Given the description of an element on the screen output the (x, y) to click on. 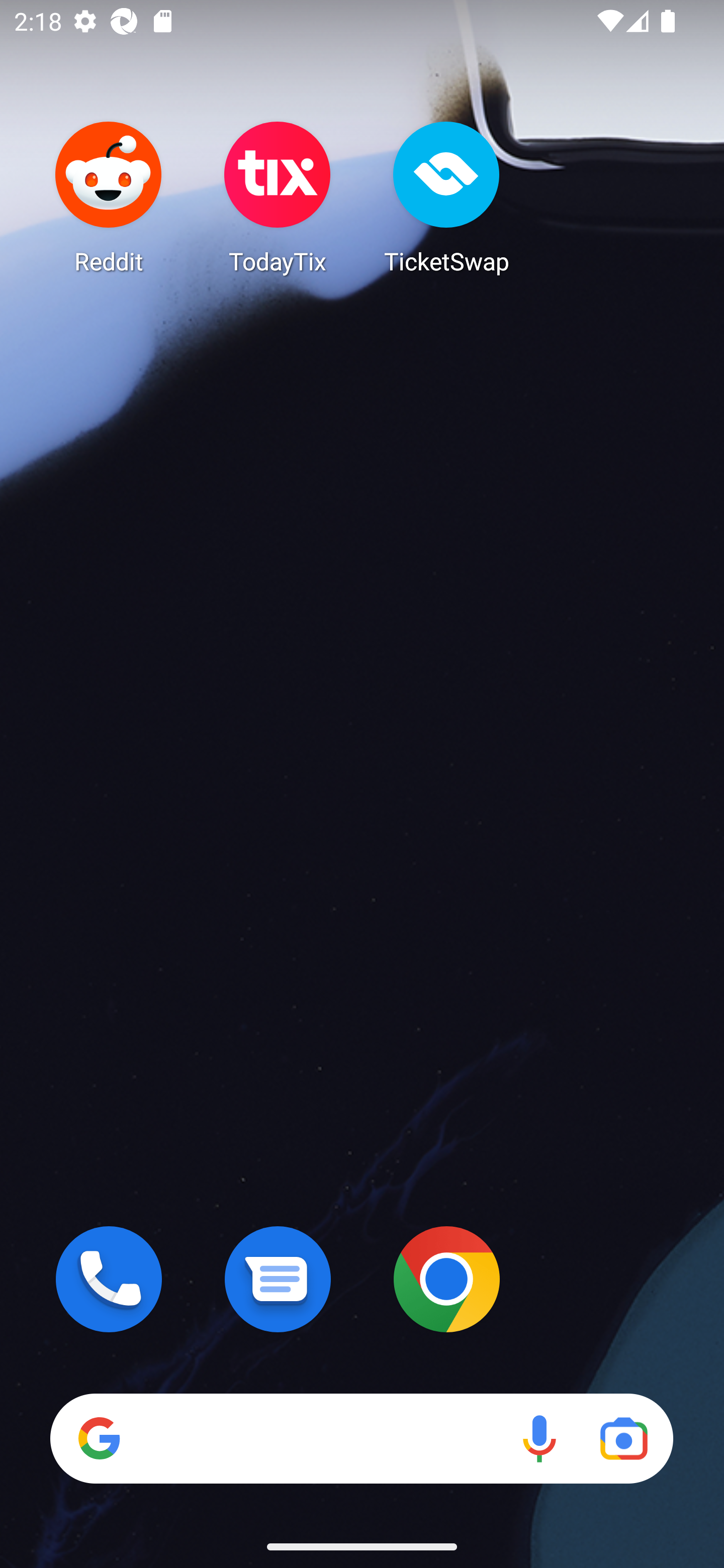
Reddit (108, 196)
TodayTix (277, 196)
TicketSwap (445, 196)
Phone (108, 1279)
Messages (277, 1279)
Chrome (446, 1279)
Voice search (539, 1438)
Google Lens (623, 1438)
